Given the description of an element on the screen output the (x, y) to click on. 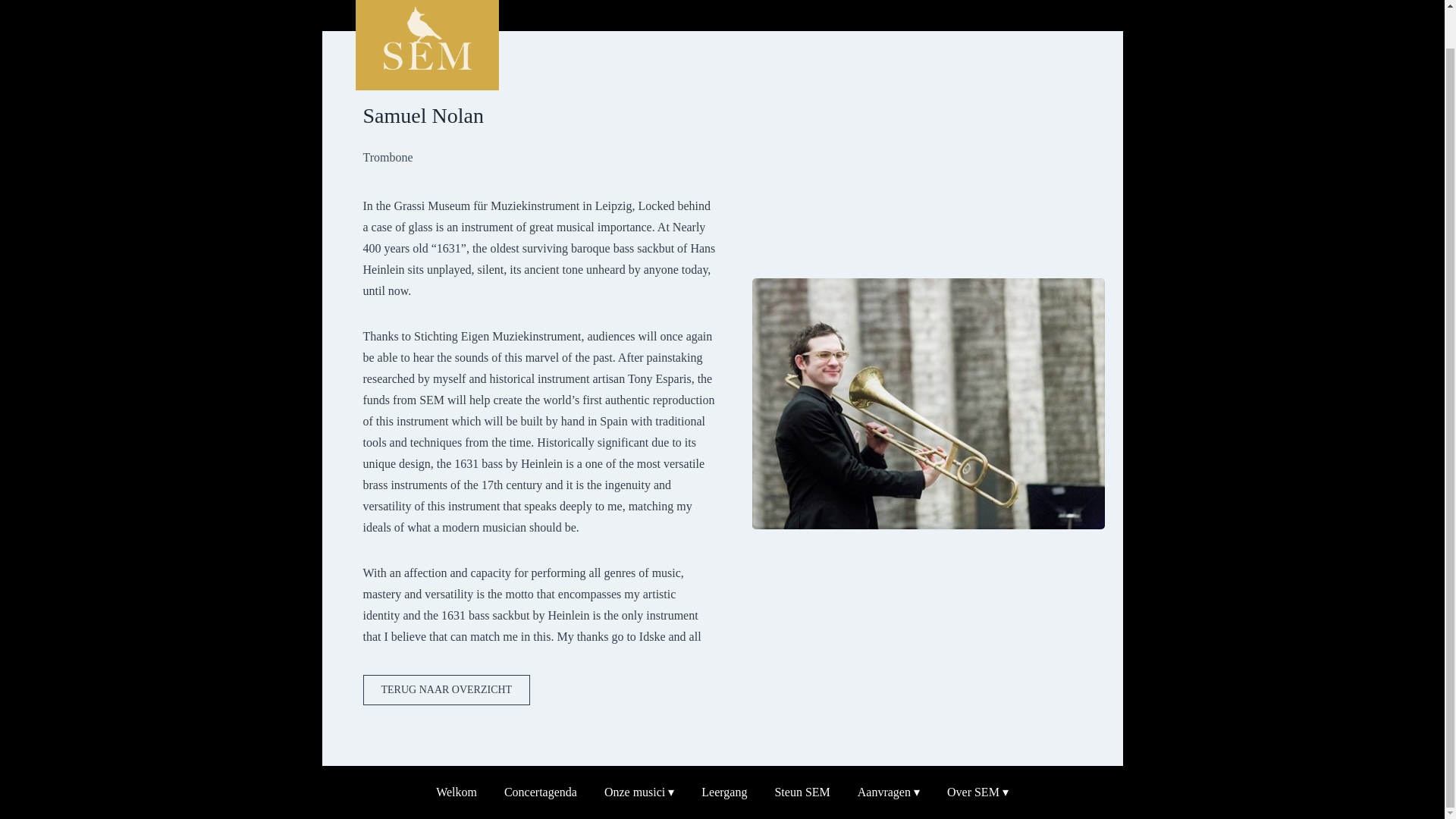
Concertagenda (539, 792)
Leergang (723, 792)
Steun SEM (801, 792)
Welkom (456, 792)
TERUG NAAR OVERZICHT (445, 689)
